Given the description of an element on the screen output the (x, y) to click on. 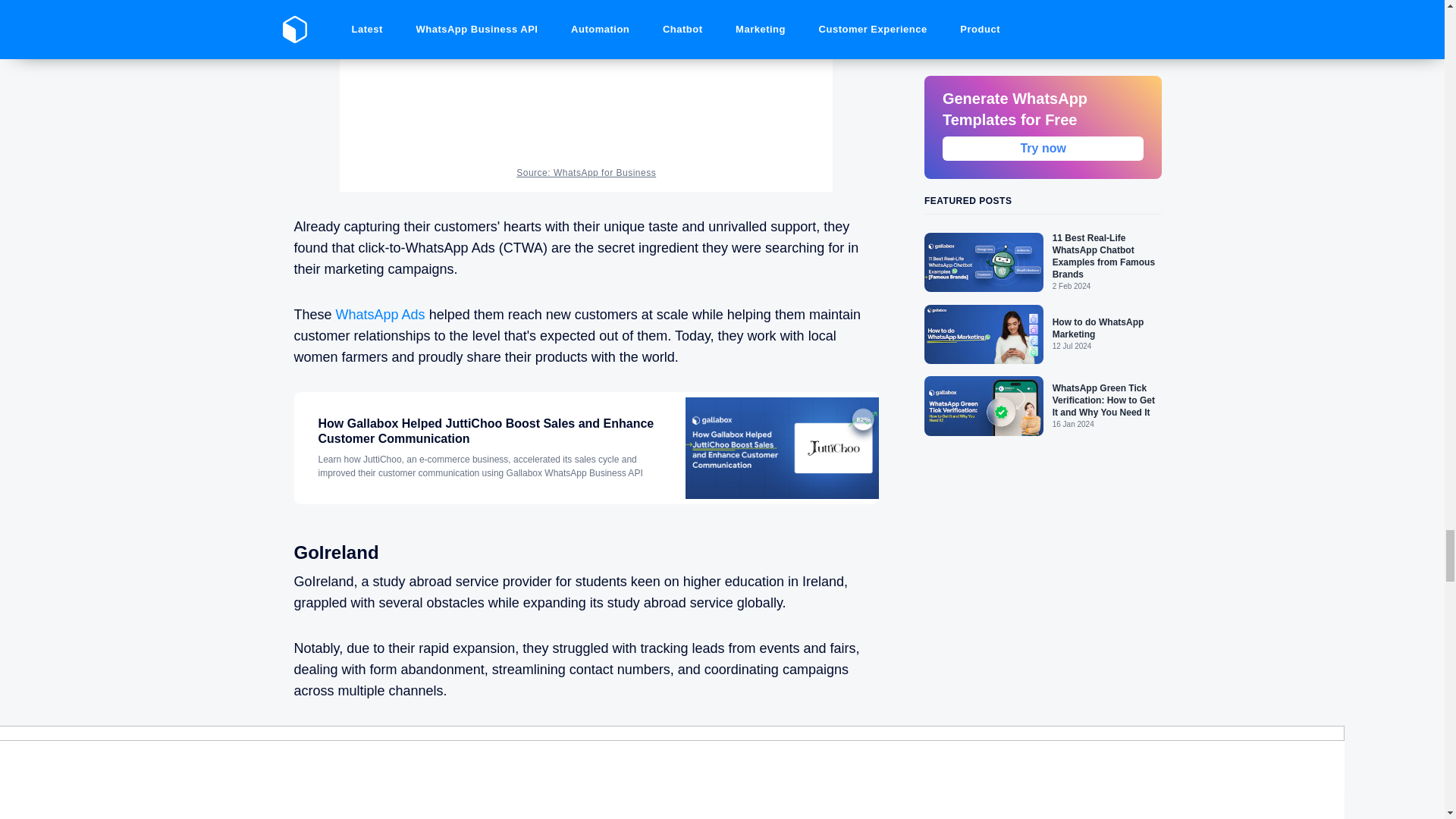
Source: WhatsApp for Business (586, 172)
